Given the description of an element on the screen output the (x, y) to click on. 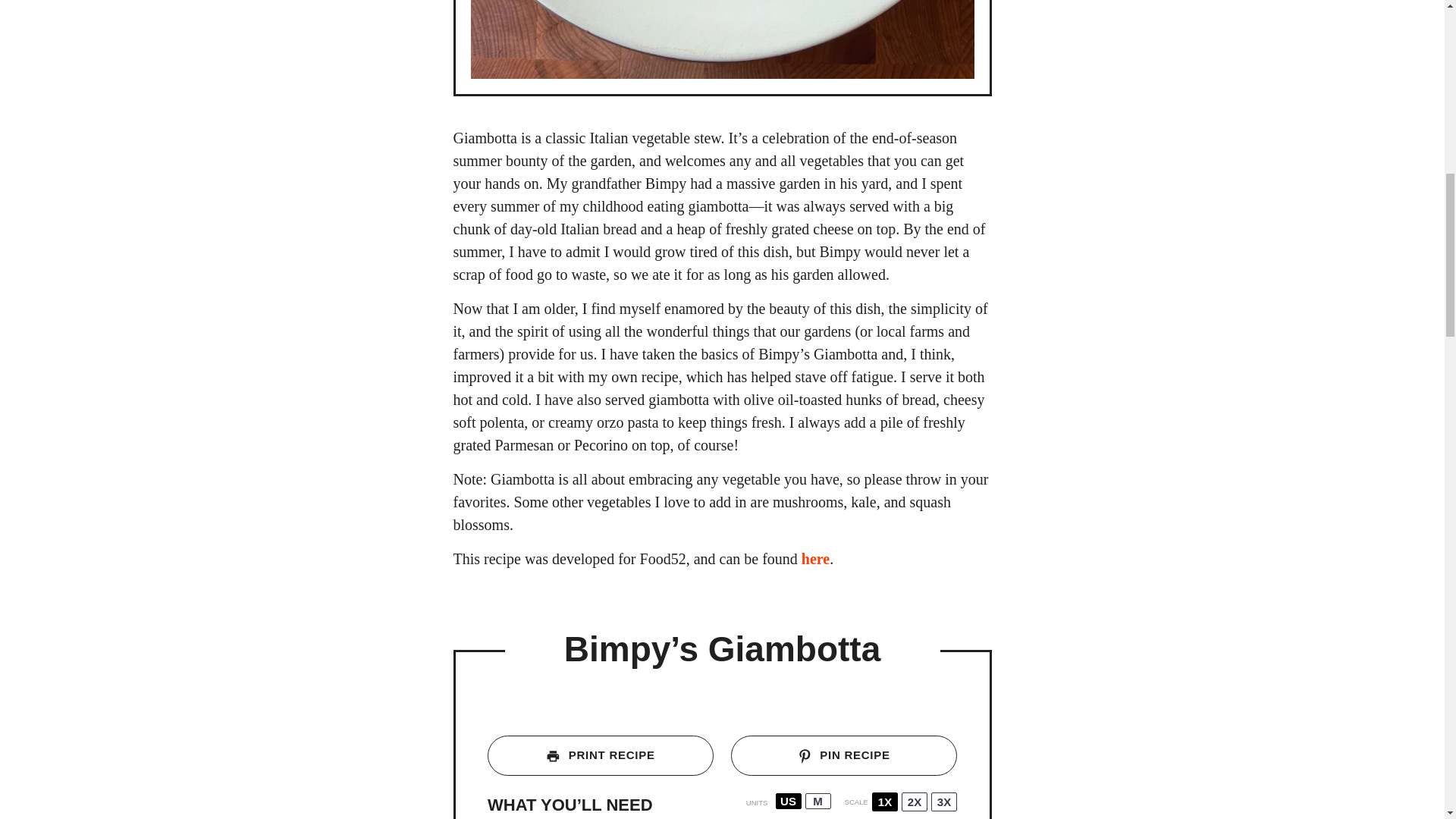
M (818, 801)
PIN RECIPE (843, 755)
PRINT RECIPE (600, 755)
2X (914, 801)
1X (885, 801)
US (789, 801)
3X (943, 801)
here (815, 558)
